Given the description of an element on the screen output the (x, y) to click on. 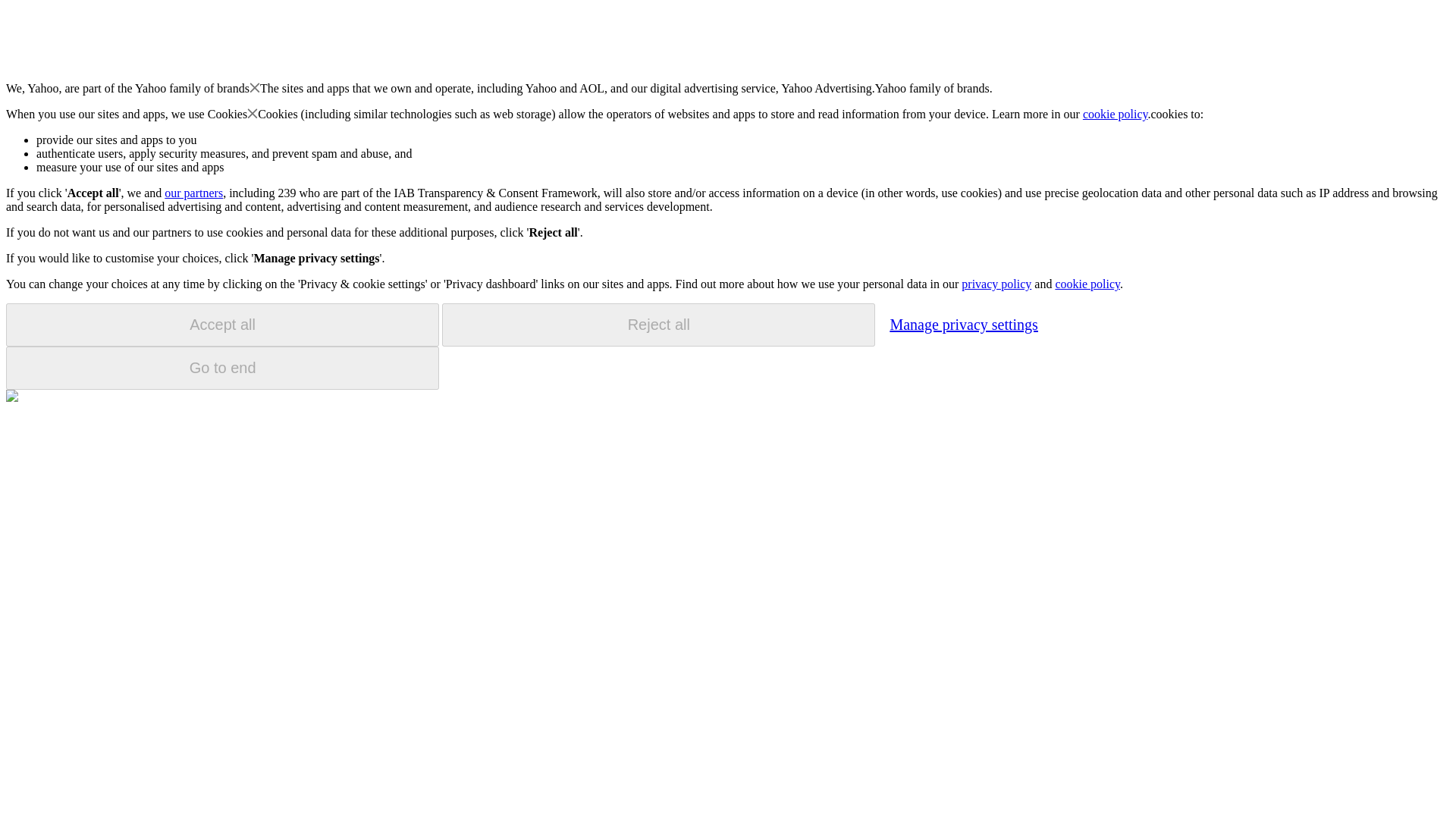
Accept all (222, 324)
our partners (193, 192)
cookie policy (1086, 283)
Go to end (222, 367)
Manage privacy settings (963, 323)
cookie policy (1115, 113)
Reject all (658, 324)
privacy policy (995, 283)
